Given the description of an element on the screen output the (x, y) to click on. 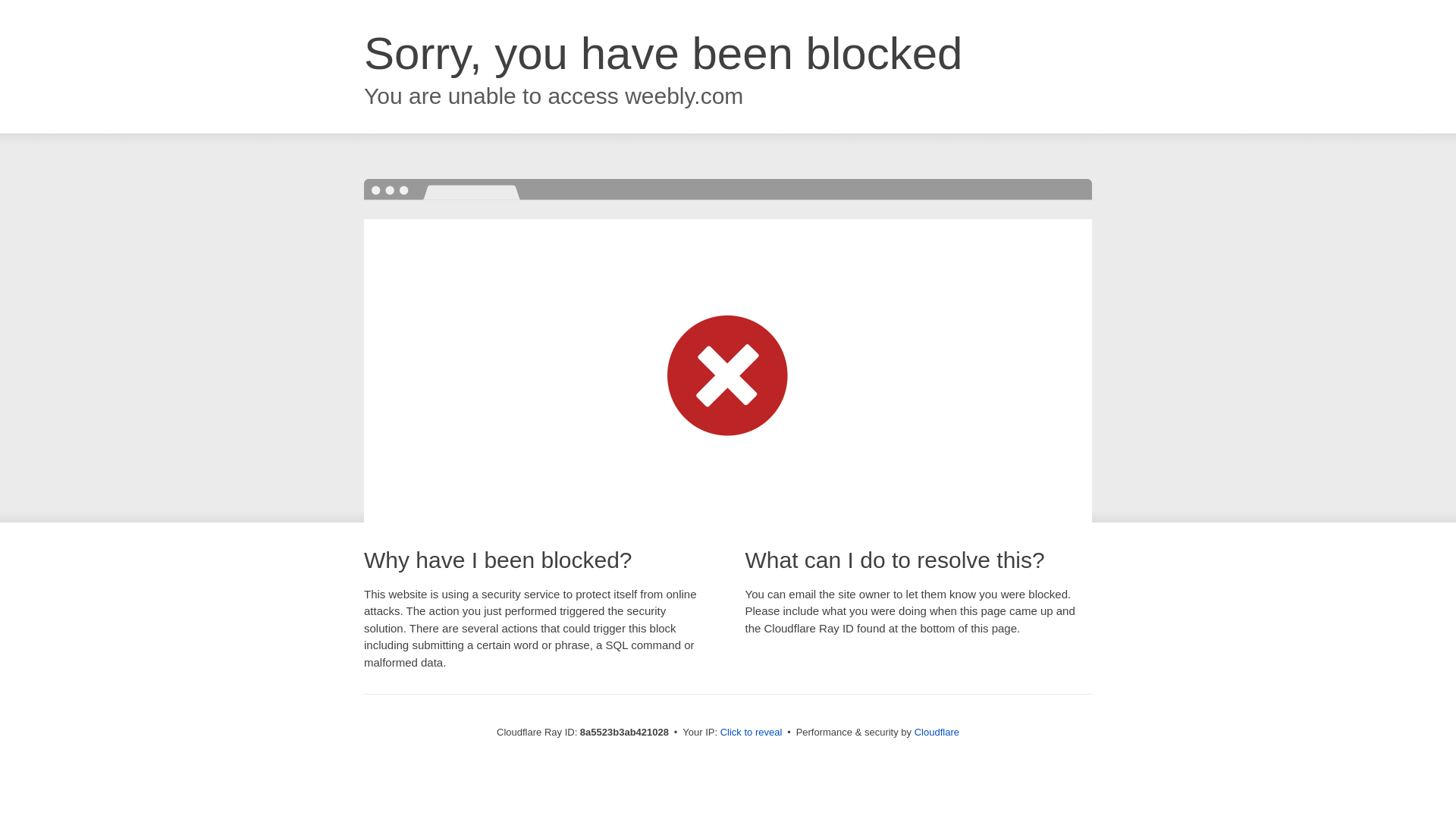
Click to reveal (751, 732)
Cloudflare (936, 731)
